Given the description of an element on the screen output the (x, y) to click on. 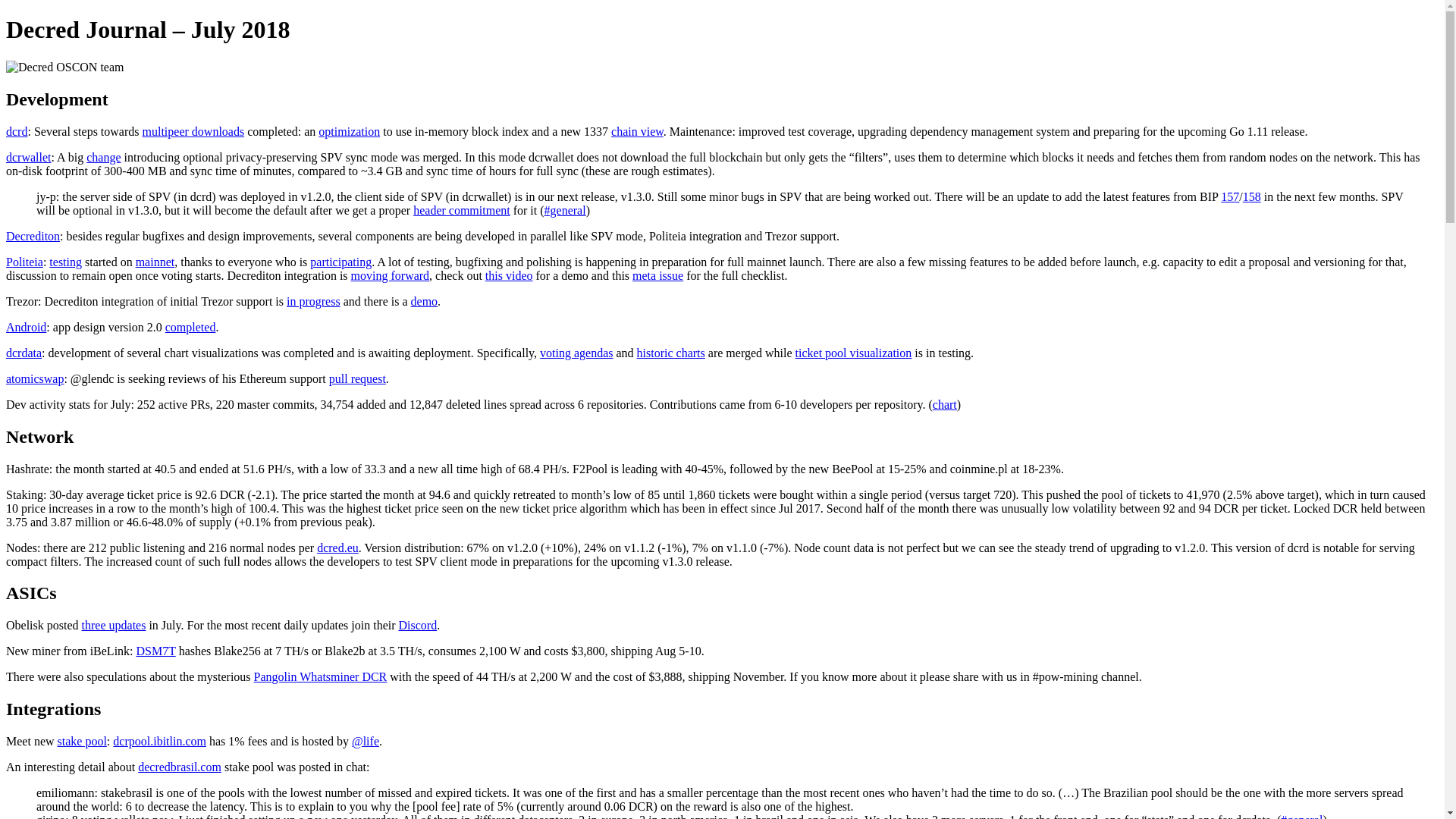
header commitment (462, 210)
ticket pool visualization (853, 352)
moving forward (389, 275)
stake pool (82, 740)
completed (190, 327)
dcrpool.ibitlin.com (159, 740)
in progress (313, 300)
Pangolin Whatsminer DCR (320, 676)
voting agendas (576, 352)
Politeia (24, 261)
